Given the description of an element on the screen output the (x, y) to click on. 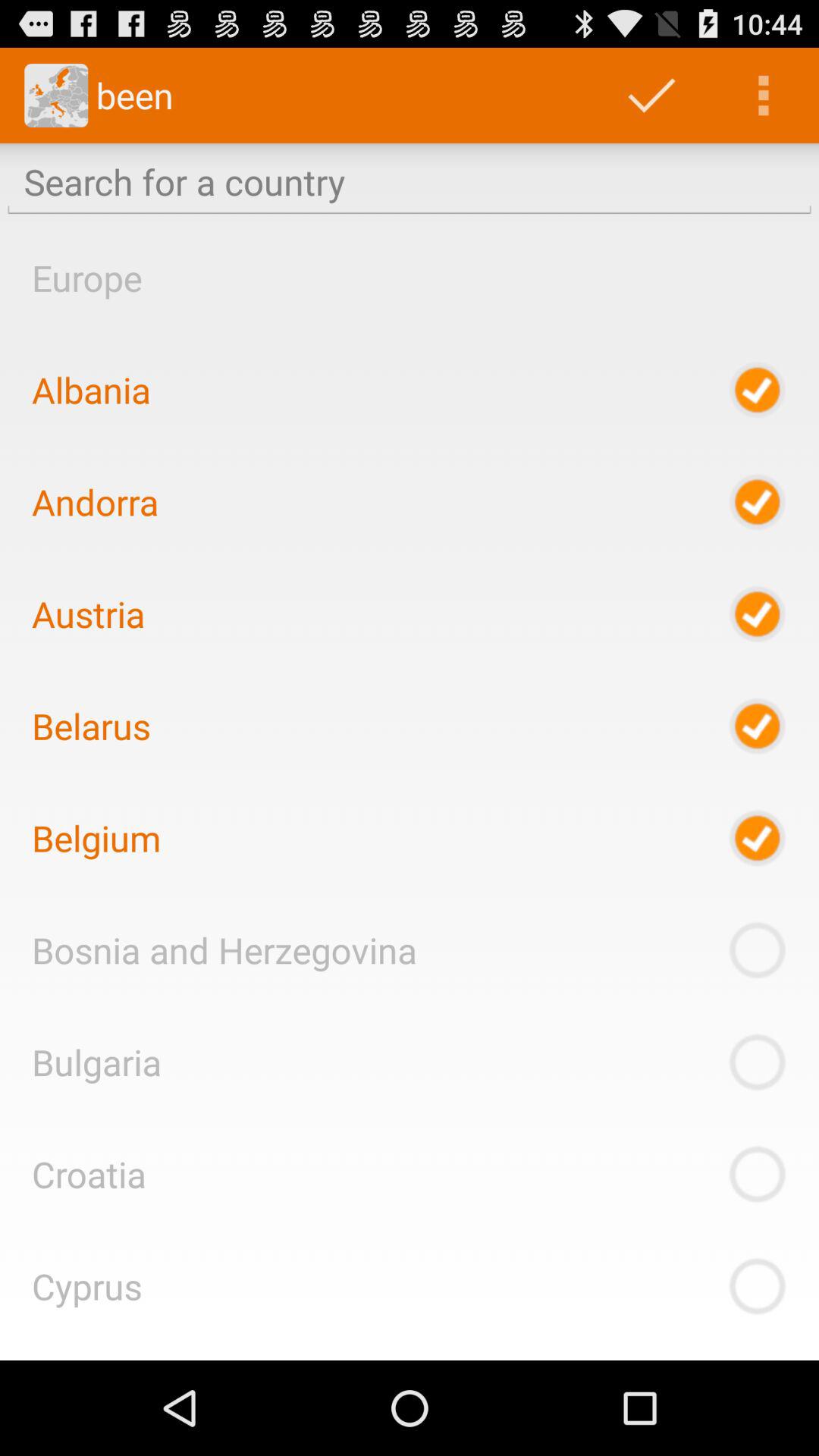
tap the app above the albania app (86, 277)
